Given the description of an element on the screen output the (x, y) to click on. 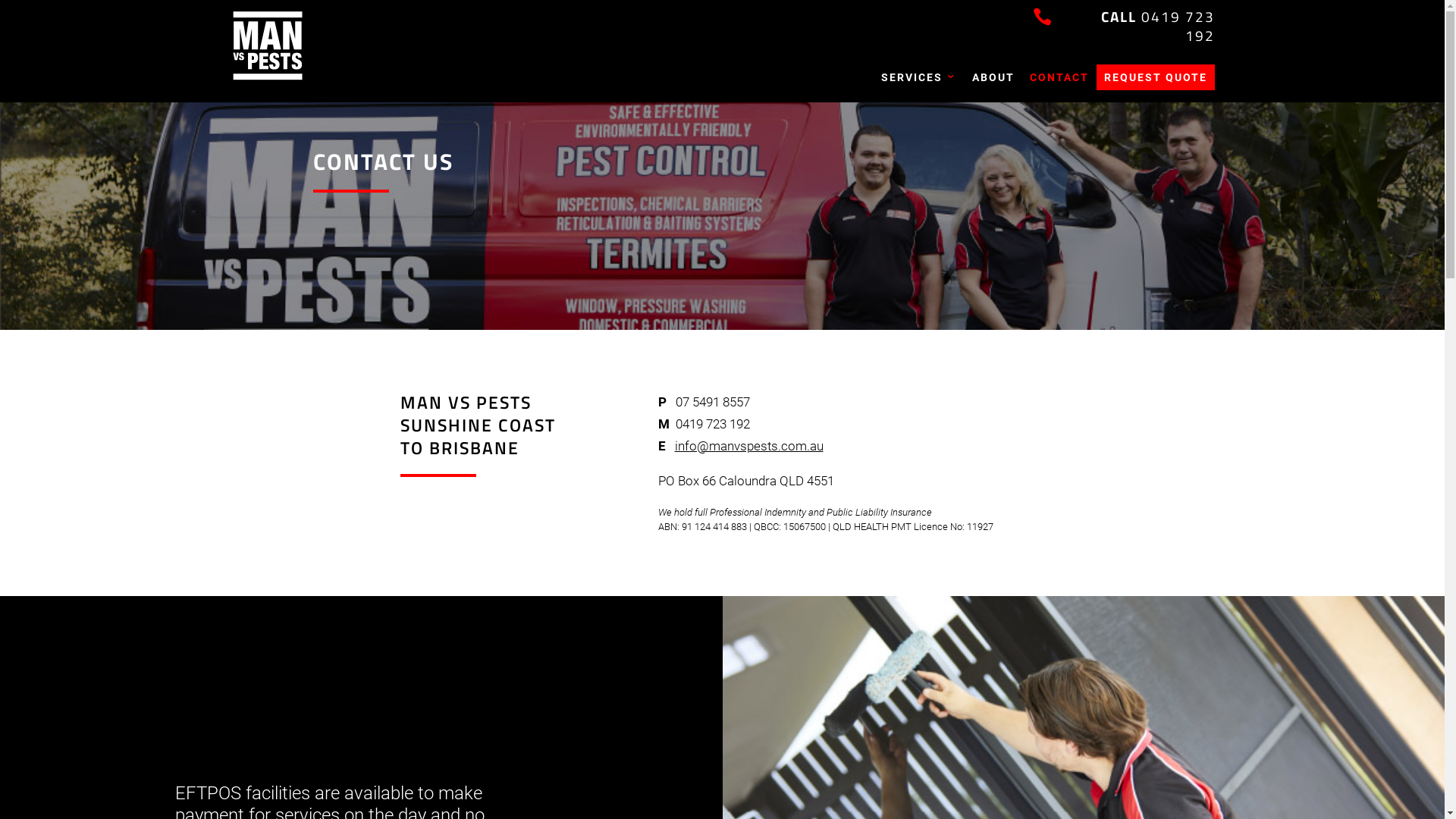
SERVICES Element type: text (918, 76)
CALL 0419 723 192 Element type: text (1157, 25)
ABOUT Element type: text (993, 76)
Man_Vs_Pests_Logo-01 Element type: hover (266, 45)
info@manvspests.com.au Element type: text (748, 445)
REQUEST QUOTE Element type: text (1155, 77)
CONTACT Element type: text (1059, 76)
